Given the description of an element on the screen output the (x, y) to click on. 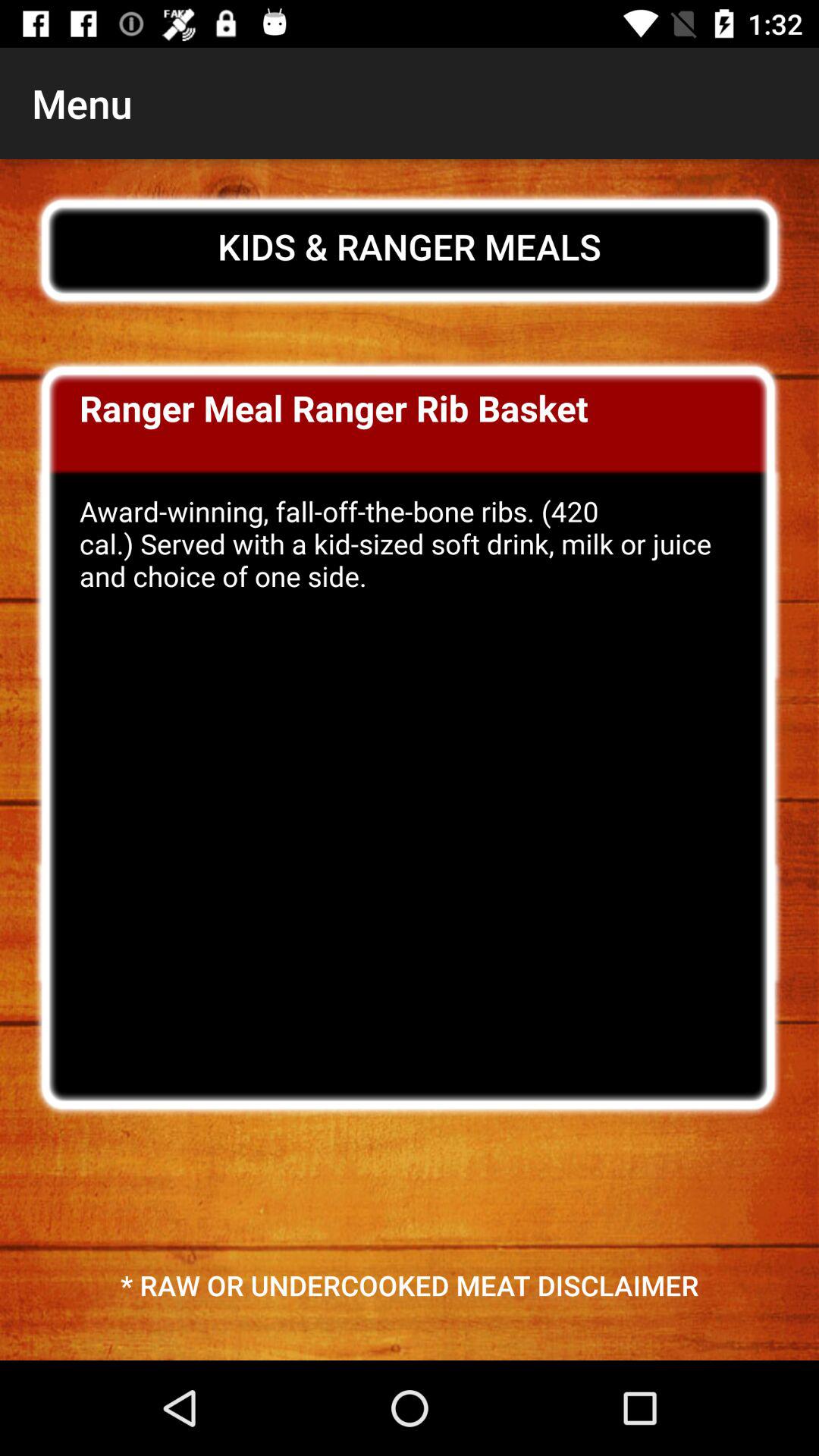
turn on the icon below the menu app (409, 246)
